Given the description of an element on the screen output the (x, y) to click on. 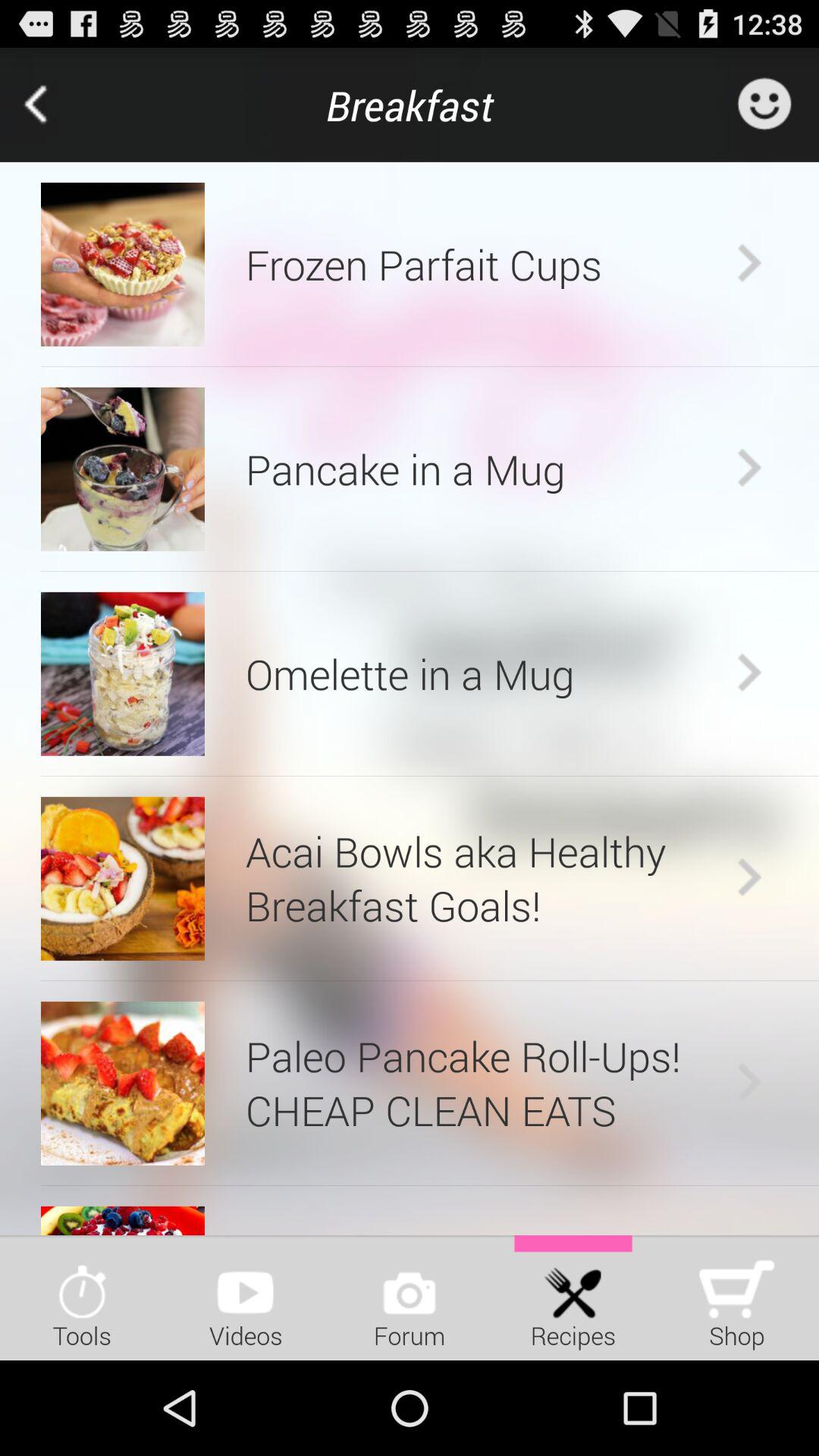
choose icon to the left of the videos (81, 1297)
